Given the description of an element on the screen output the (x, y) to click on. 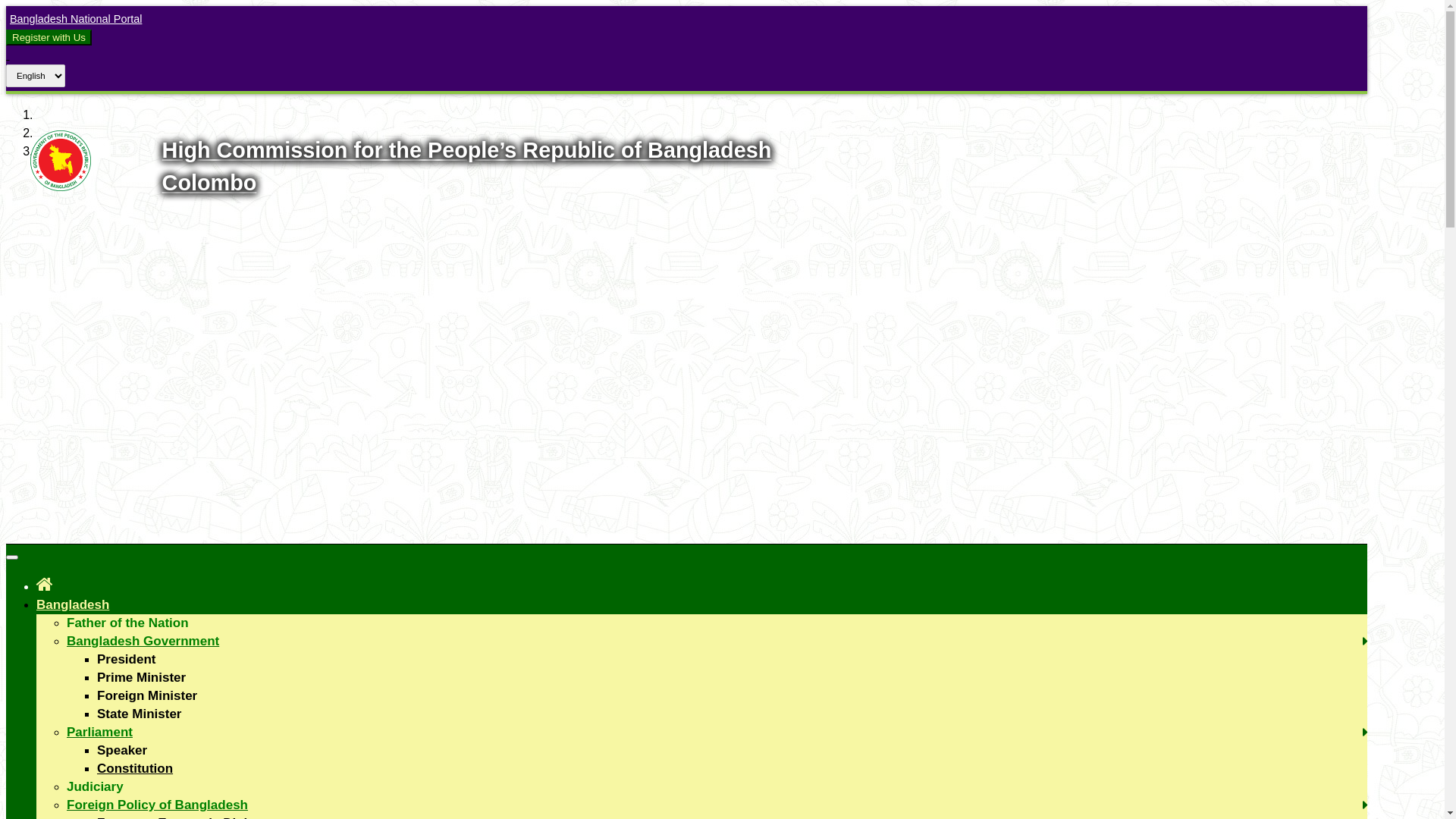
Parliament Element type: text (99, 731)
Foreign Minister Element type: text (147, 695)
Logo Element type: hover (60, 186)
Prime Minister Element type: text (141, 677)
Home Element type: hover (44, 584)
Constitution Element type: text (134, 768)
State Minister Element type: text (139, 713)
Foreign Policy of Bangladesh Element type: text (156, 804)
Father of the Nation Element type: text (127, 622)
Speaker Element type: text (122, 750)
Register with Us Element type: text (48, 37)
Register with Us Element type: text (48, 37)
Judiciary Element type: text (94, 786)
Bangladesh Element type: text (72, 604)
Twitter Element type: hover (7, 54)
Bangladesh Government Element type: text (142, 640)
President Element type: text (126, 659)
Bangladesh National Portal Element type: text (73, 18)
